Given the description of an element on the screen output the (x, y) to click on. 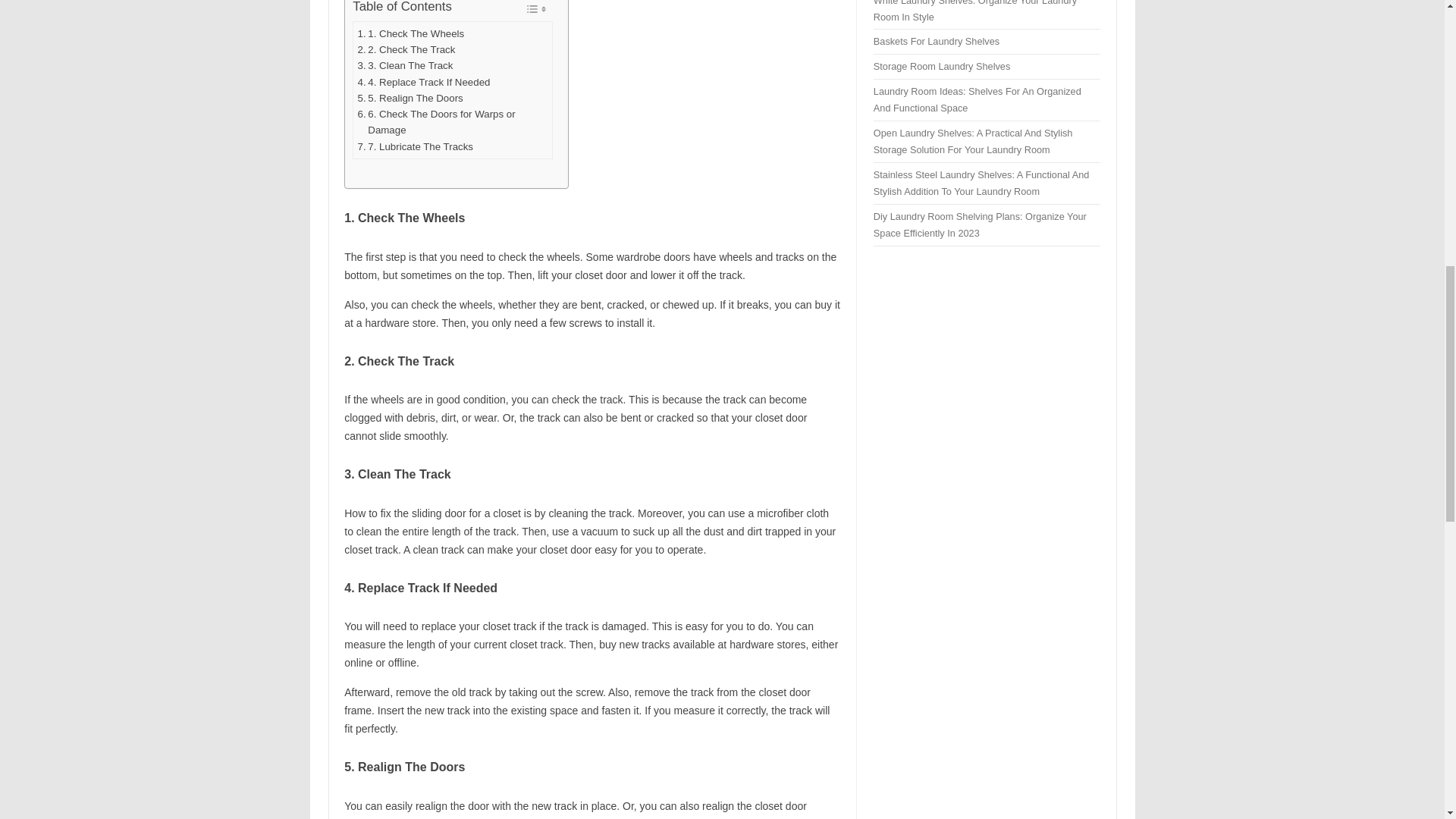
1. Check The Wheels (411, 33)
7. Lubricate The Tracks (415, 146)
7. Lubricate The Tracks (415, 146)
3. Clean The Track (405, 65)
2. Check The Track (406, 49)
4. Replace Track If Needed (424, 82)
3. Clean The Track (405, 65)
1. Check The Wheels (411, 33)
6. Check The Doors for Warps or Damage (453, 122)
2. Check The Track (406, 49)
5. Realign The Doors (410, 98)
5. Realign The Doors (410, 98)
4. Replace Track If Needed (424, 82)
6. Check The Doors for Warps or Damage (453, 122)
